Given the description of an element on the screen output the (x, y) to click on. 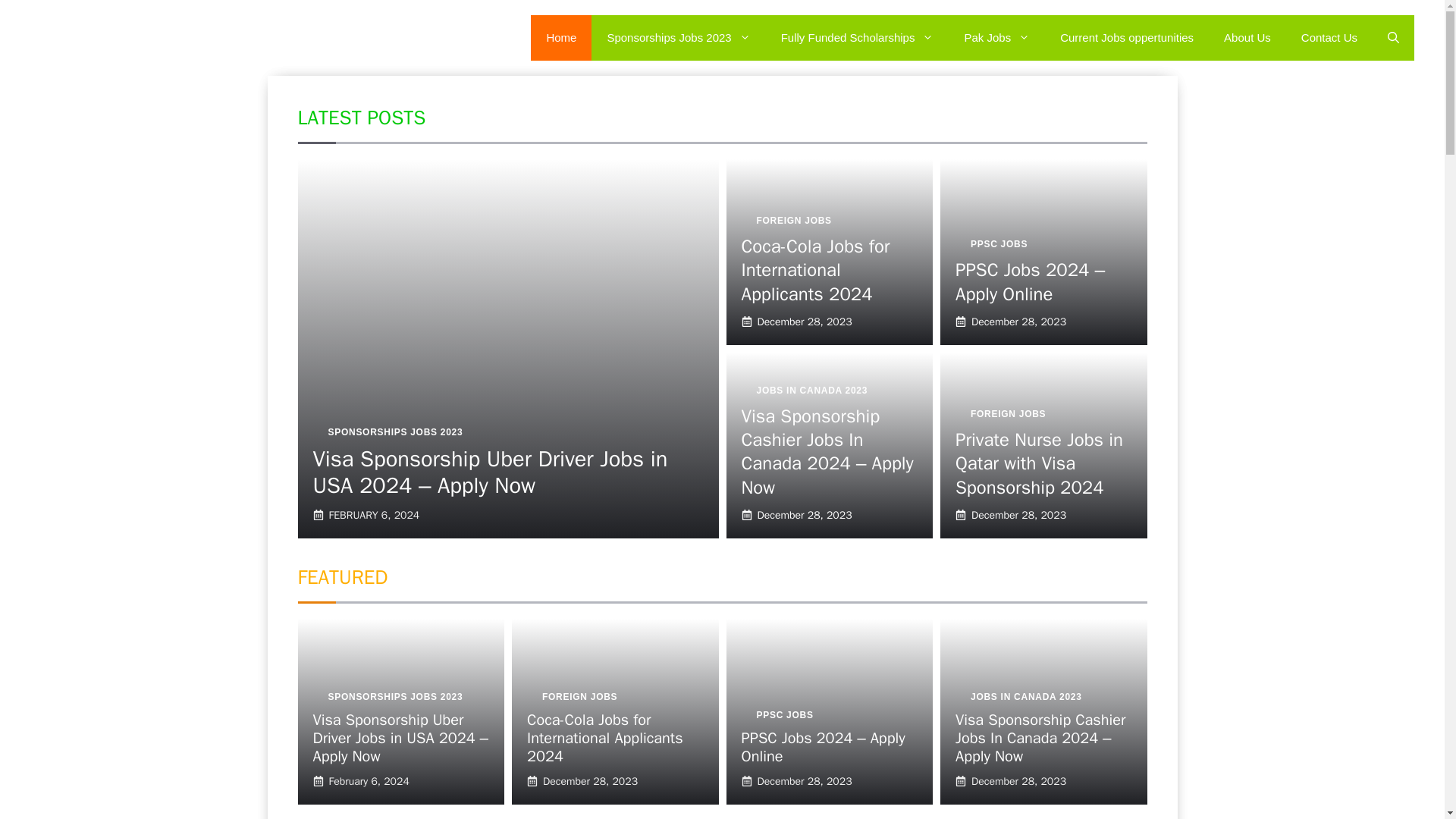
Pak Jobs (997, 37)
Fully Funded Scholarships (857, 37)
Contact Us (1329, 37)
Sponsorships Jobs 2023 (678, 37)
Current Jobs oppertunities (1126, 37)
Home (561, 37)
About Us (1246, 37)
